Given the description of an element on the screen output the (x, y) to click on. 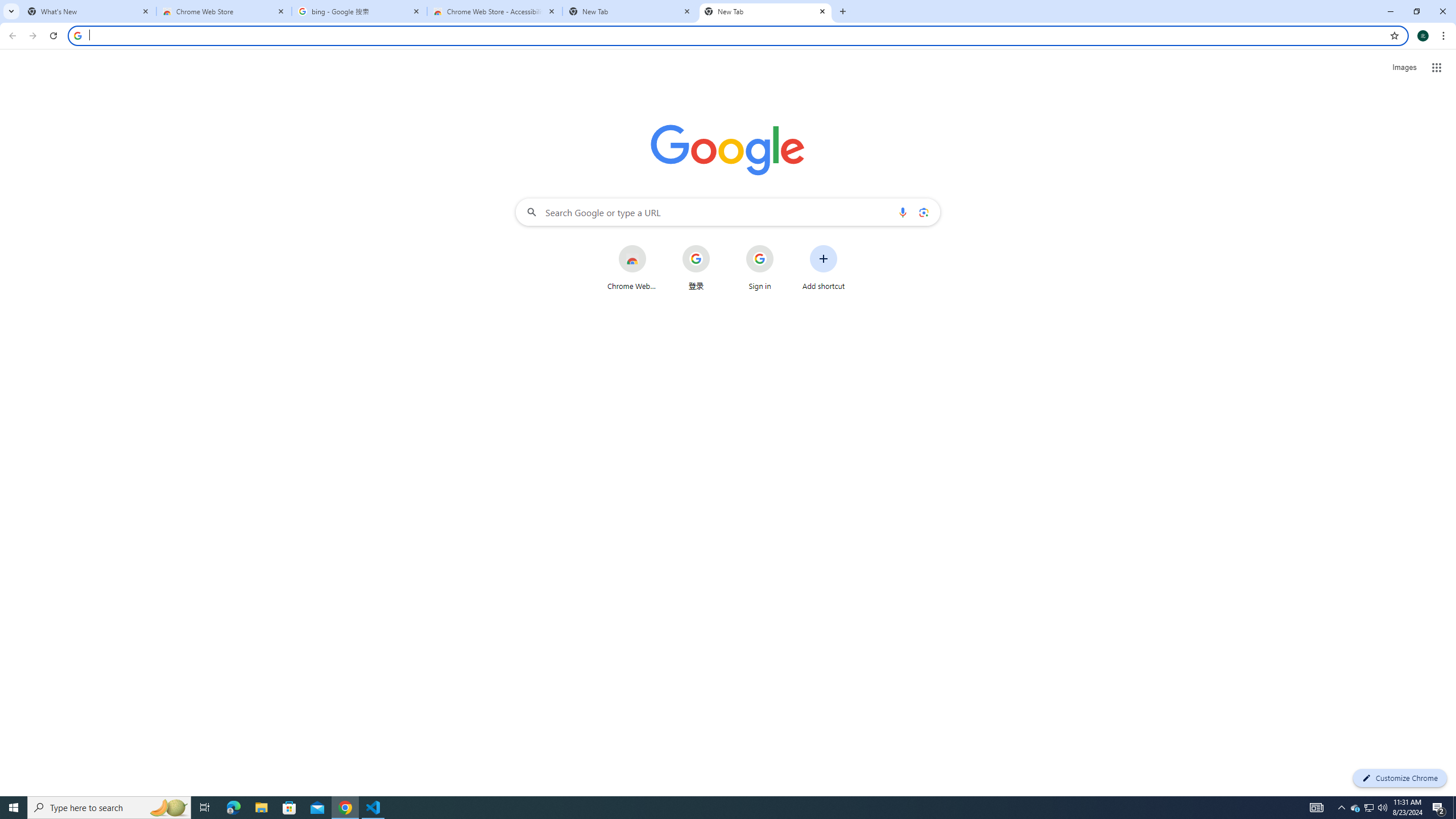
More actions for Chrome Web Store shortcut (654, 245)
New Tab (842, 11)
Chrome Web Store - Accessibility (494, 11)
Search for Images  (1403, 67)
Reload (52, 35)
Chrome Web Store (224, 11)
Search by voice (902, 212)
Chrome (1445, 35)
System (6, 6)
Minimize (1390, 11)
More actions for Sign in shortcut (782, 245)
Bookmark this tab (1393, 35)
